Given the description of an element on the screen output the (x, y) to click on. 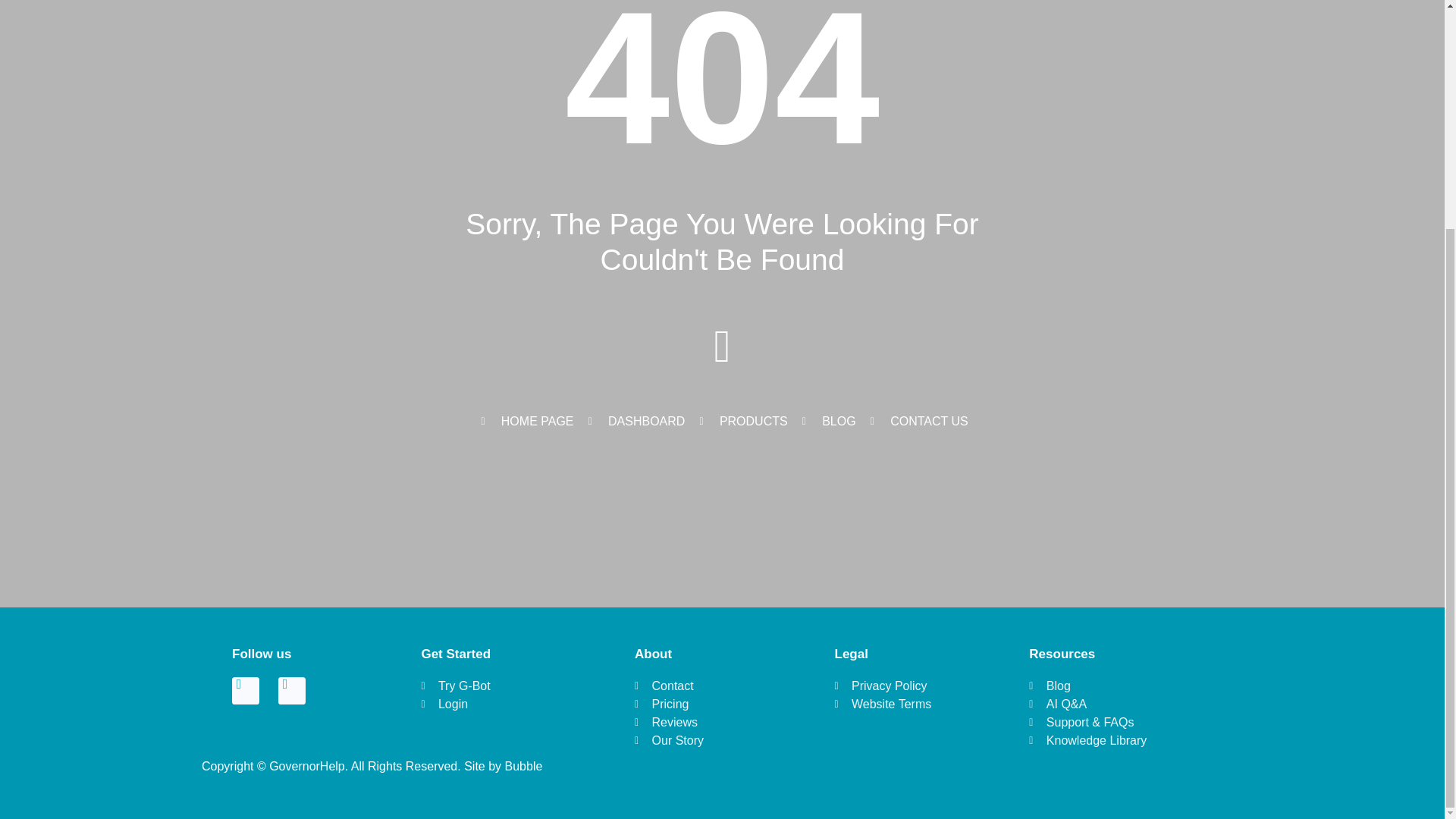
Pricing (703, 704)
Privacy Policy (901, 686)
BLOG (826, 421)
PRODUCTS (740, 421)
Try G-Bot (496, 686)
Blog (1120, 686)
Reviews (703, 722)
Login (496, 704)
CONTACT US (917, 421)
HOME PAGE (524, 421)
